Given the description of an element on the screen output the (x, y) to click on. 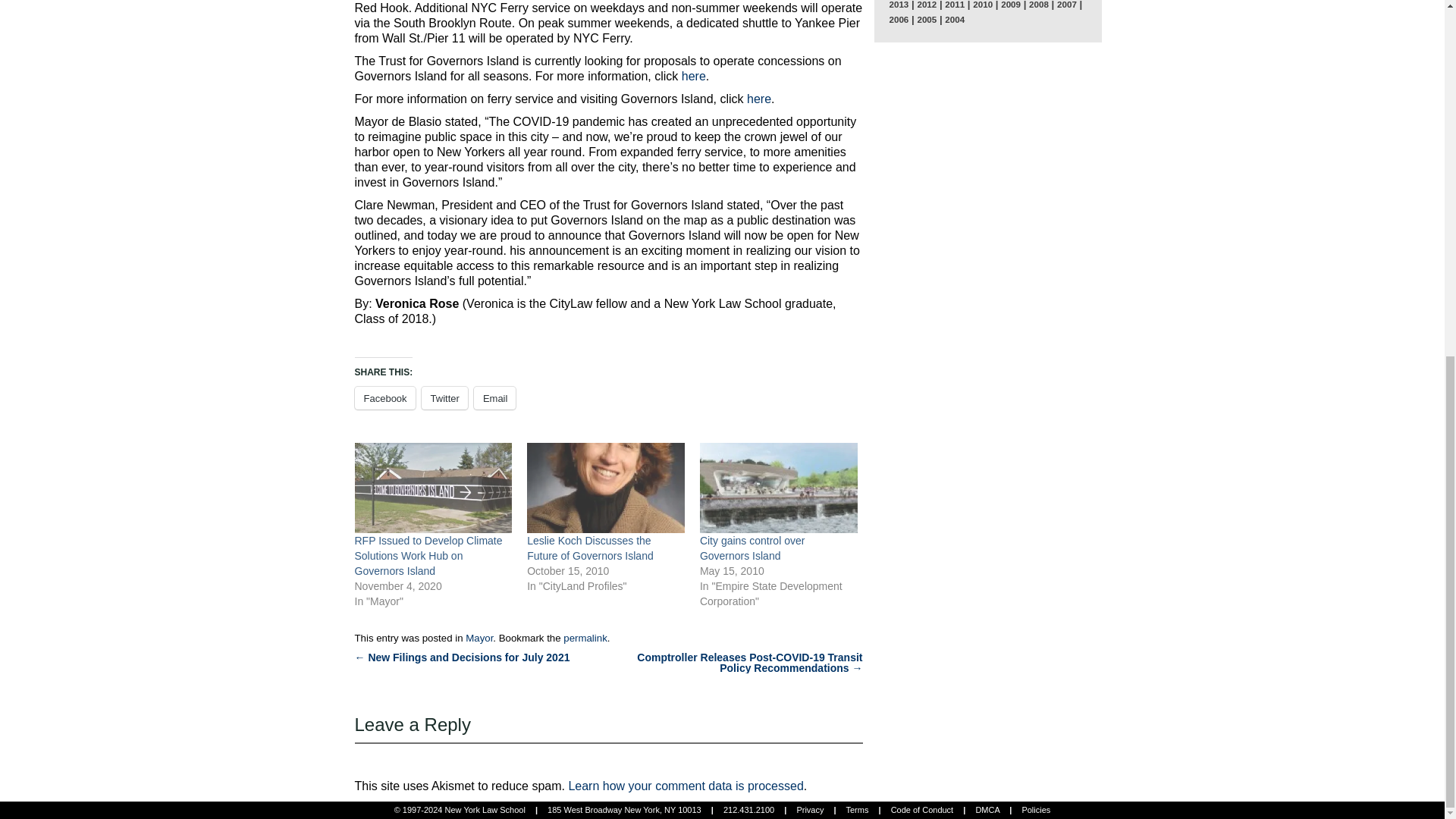
Click to share on Facebook (384, 397)
City gains control over Governors Island (752, 547)
Facebook (384, 397)
2011 (953, 4)
here (693, 75)
Email (495, 397)
Learn how your comment data is processed (685, 785)
Twitter (444, 397)
Click to email a link to a friend (495, 397)
2012 (926, 4)
Leslie Koch Discusses the Future of Governors Island (590, 547)
Mayor (479, 637)
Click to share on Twitter (444, 397)
Leslie Koch Discusses the Future of Governors Island (590, 547)
